Given the description of an element on the screen output the (x, y) to click on. 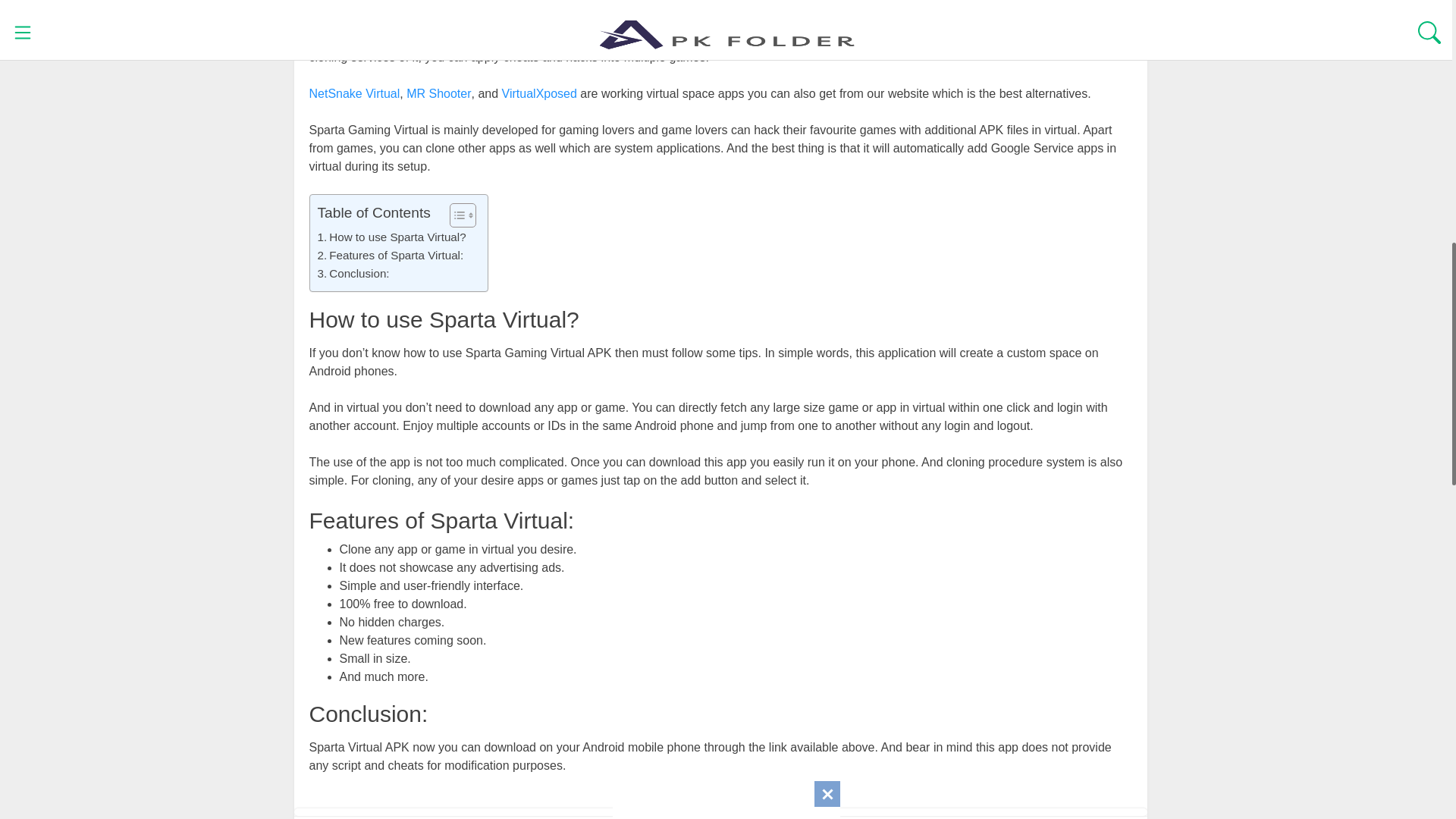
NetSnake Virtual (354, 92)
Conclusion: (352, 273)
Conclusion: (352, 273)
Features of Sparta Virtual: (390, 255)
Features of Sparta Virtual: (390, 255)
How to use Sparta Virtual? (391, 237)
MR Shooter (438, 92)
How to use Sparta Virtual? (391, 237)
VirtualXposed (539, 92)
